Given the description of an element on the screen output the (x, y) to click on. 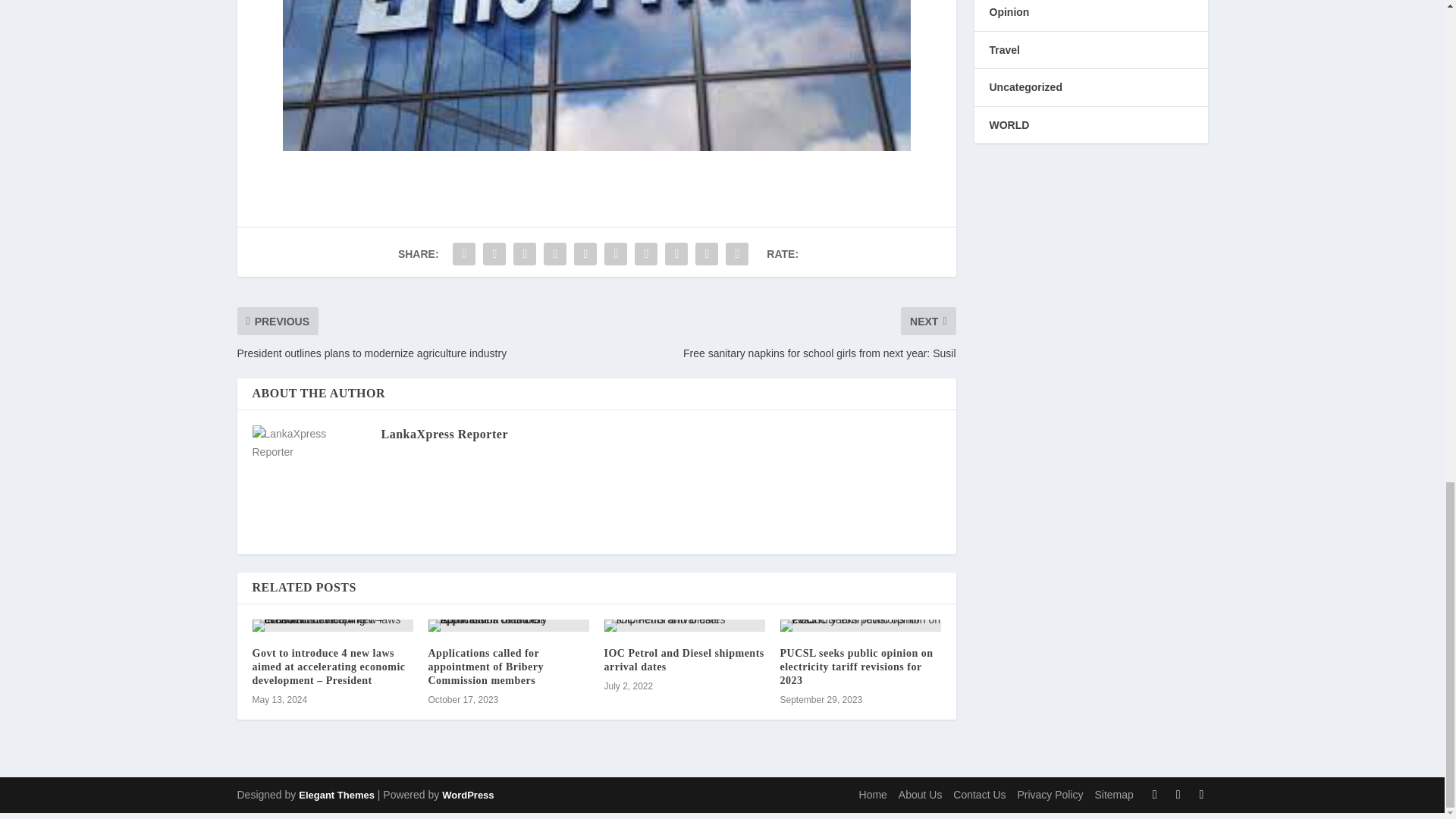
LankaXpress Reporter (443, 433)
